Given the description of an element on the screen output the (x, y) to click on. 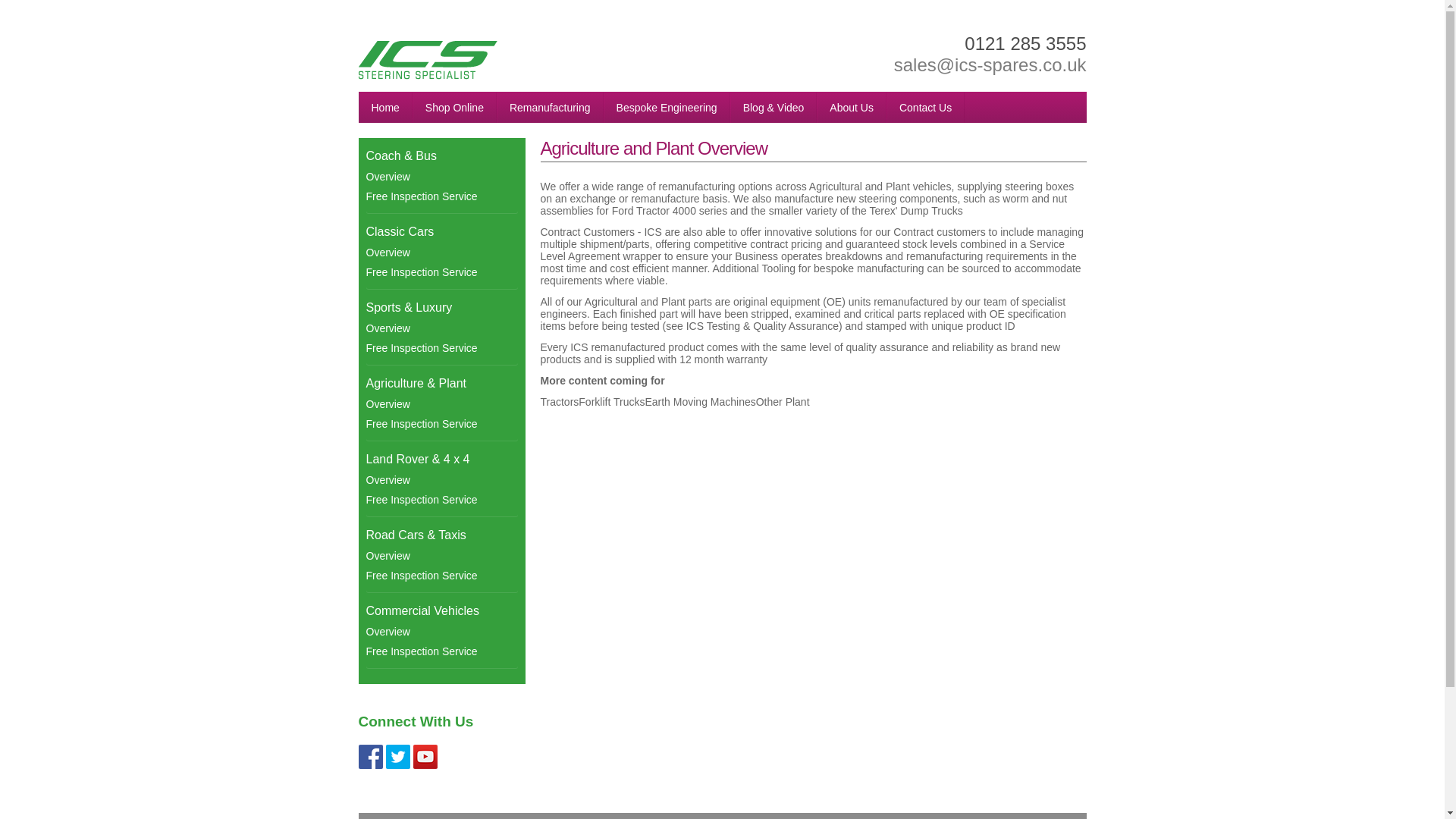
Home (385, 107)
Overview (440, 403)
Free Inspection Service (440, 424)
Free Inspection Service (440, 347)
Free Inspection Service (440, 499)
Home (385, 107)
Remanufacturing (550, 107)
Bespoke Engineering (667, 107)
Shop Online (454, 107)
Overview (440, 328)
